Given the description of an element on the screen output the (x, y) to click on. 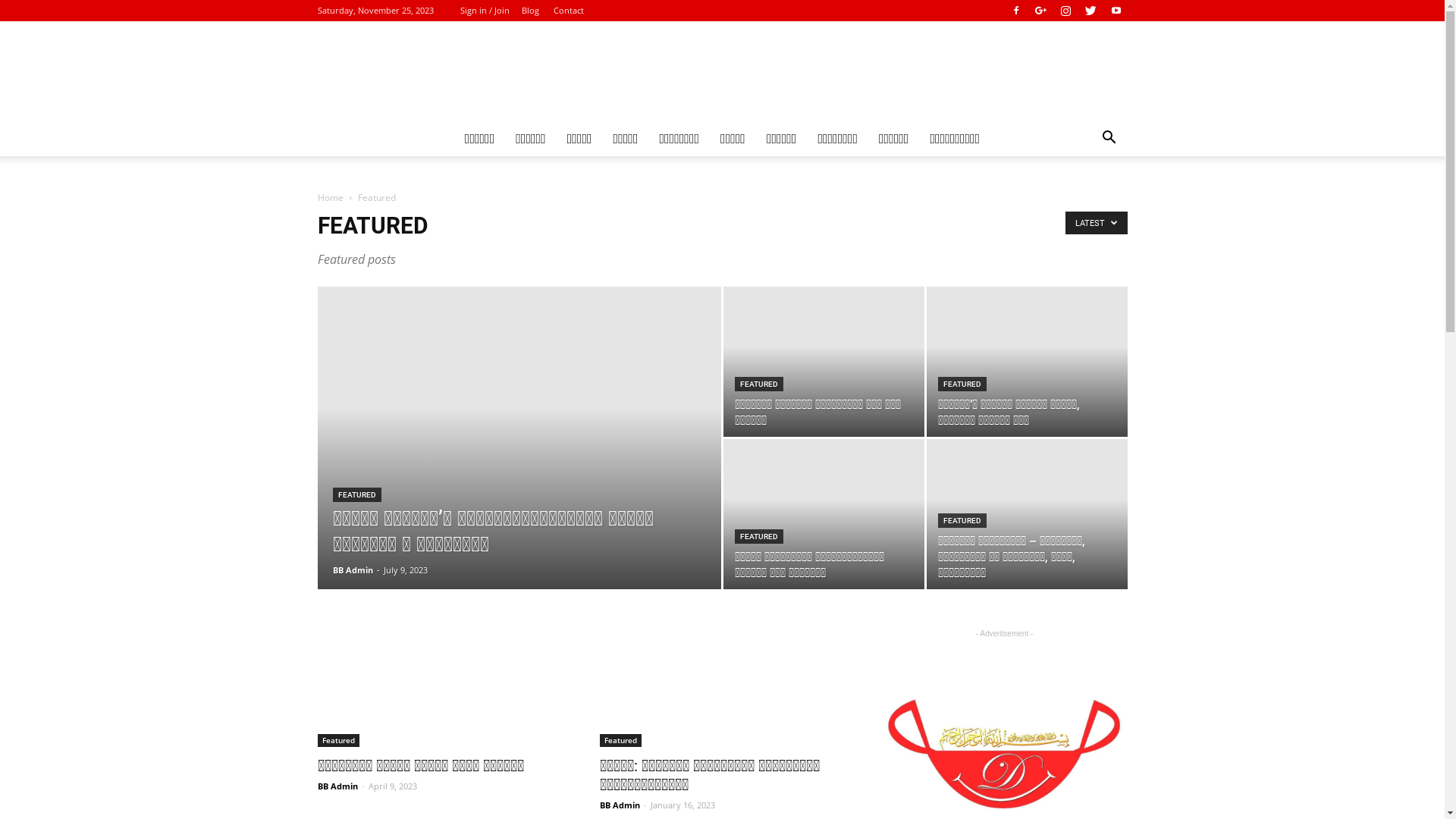
Youtube Element type: hover (1115, 10)
Instagram Element type: hover (1065, 10)
Twitter Element type: hover (1090, 10)
Search Element type: text (1085, 198)
FEATURED Element type: text (356, 494)
Blog Element type: text (530, 9)
FEATURED Element type: text (758, 383)
FEATURED Element type: text (961, 383)
BB Admin Element type: text (619, 804)
Facebook Element type: hover (1015, 10)
Featured Element type: text (337, 740)
Home Element type: text (329, 197)
BB Admin Element type: text (336, 785)
FEATURED Element type: text (758, 536)
Featured Element type: text (619, 740)
Contact Element type: text (568, 9)
FEATURED Element type: text (961, 520)
Sign in / Join Element type: text (483, 9)
Google+ Element type: hover (1040, 10)
BB Admin Element type: text (352, 569)
